Given the description of an element on the screen output the (x, y) to click on. 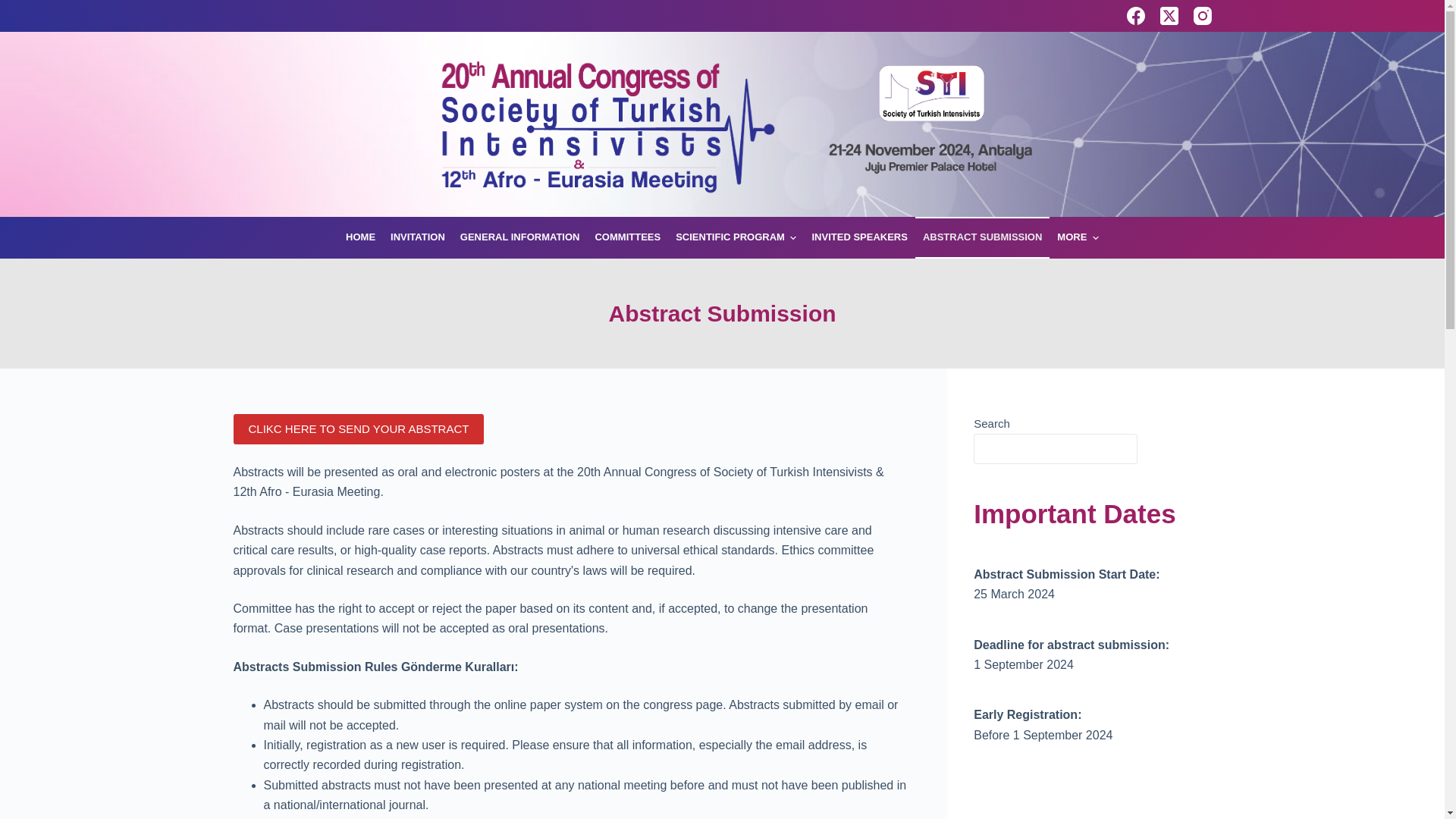
HOME (359, 237)
Skip to content (15, 7)
INVITED SPEAKERS (858, 237)
CLIKC HERE TO SEND YOUR ABSTRACT (358, 429)
Abstract Submission (722, 313)
SCIENTIFIC PROGRAM (735, 237)
MORE (1077, 237)
COMMITTEES (627, 237)
GENERAL INFORMATION (520, 237)
ABSTRACT SUBMISSION (982, 237)
